Given the description of an element on the screen output the (x, y) to click on. 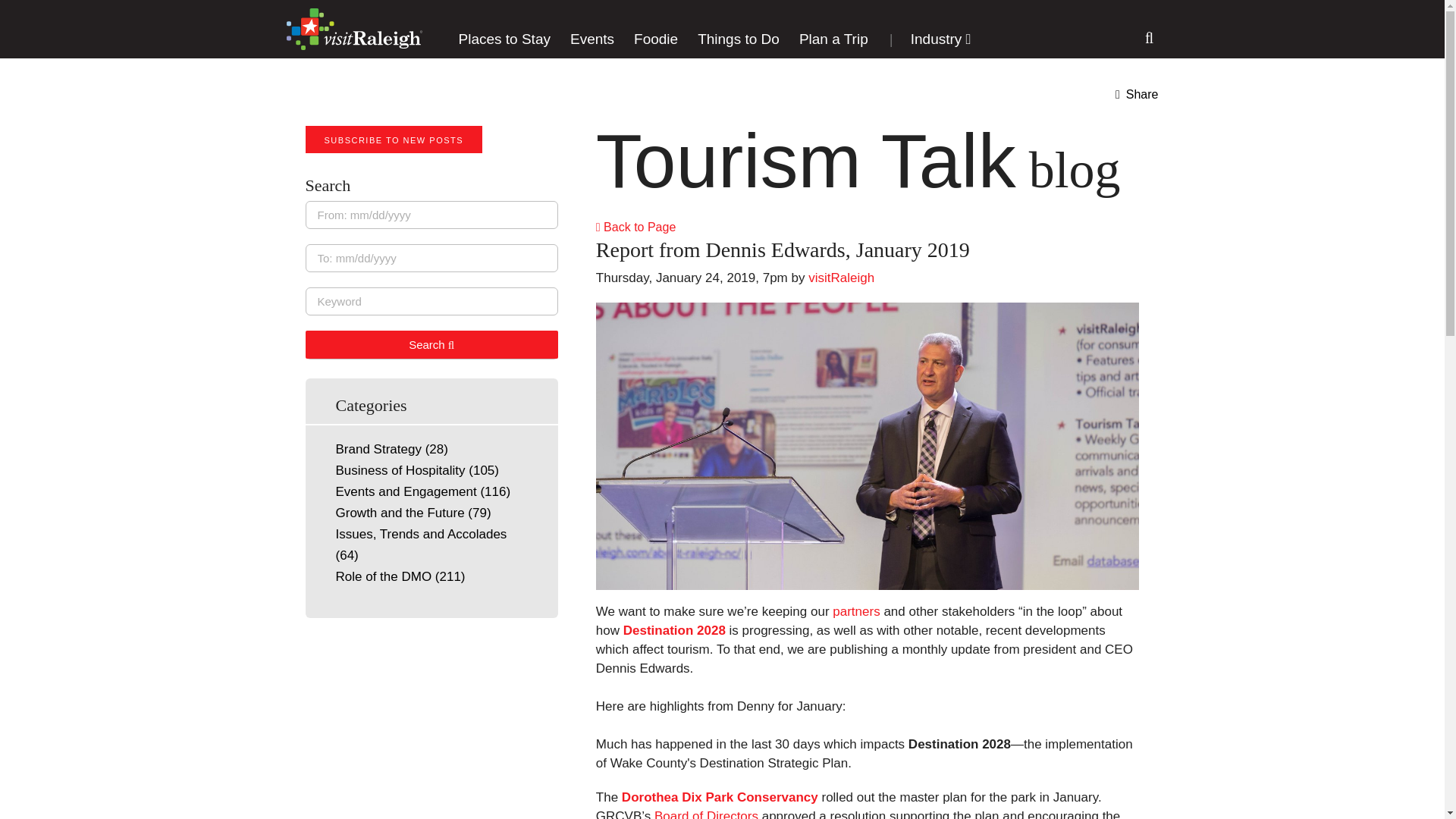
Events (592, 39)
Events (592, 39)
Places to Stay (504, 39)
Places to Stay (504, 39)
Foodie (655, 39)
